Given the description of an element on the screen output the (x, y) to click on. 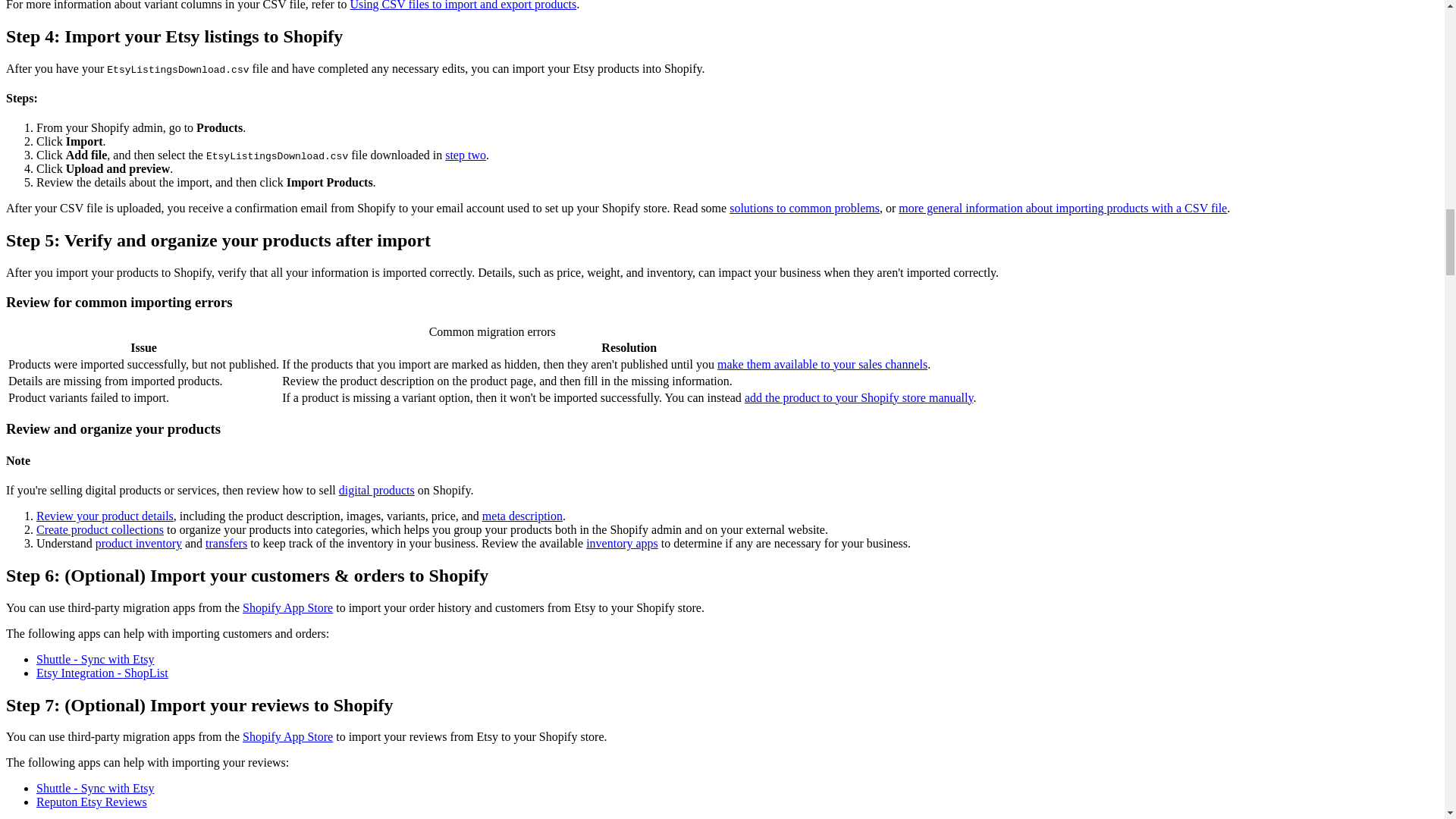
Using CSV files to import and export products (462, 5)
solutions to common problems (804, 207)
step two (465, 154)
make them available to your sales channels (822, 364)
